Given the description of an element on the screen output the (x, y) to click on. 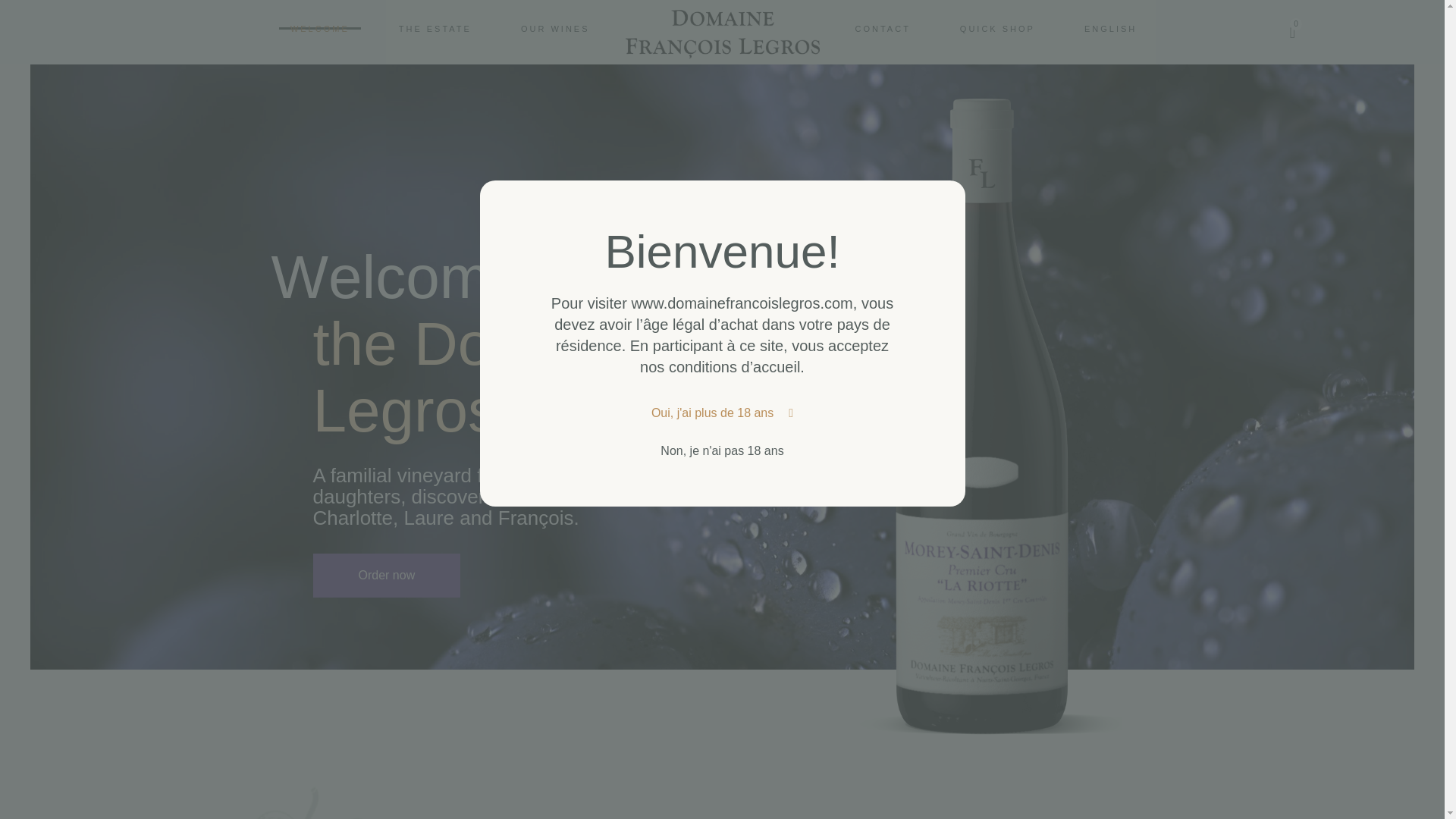
OUR WINES (555, 27)
THE ESTATE (440, 33)
WELCOME (435, 27)
QUICK SHOP (320, 27)
ENGLISH (997, 27)
CONTACT (1110, 27)
